Given the description of an element on the screen output the (x, y) to click on. 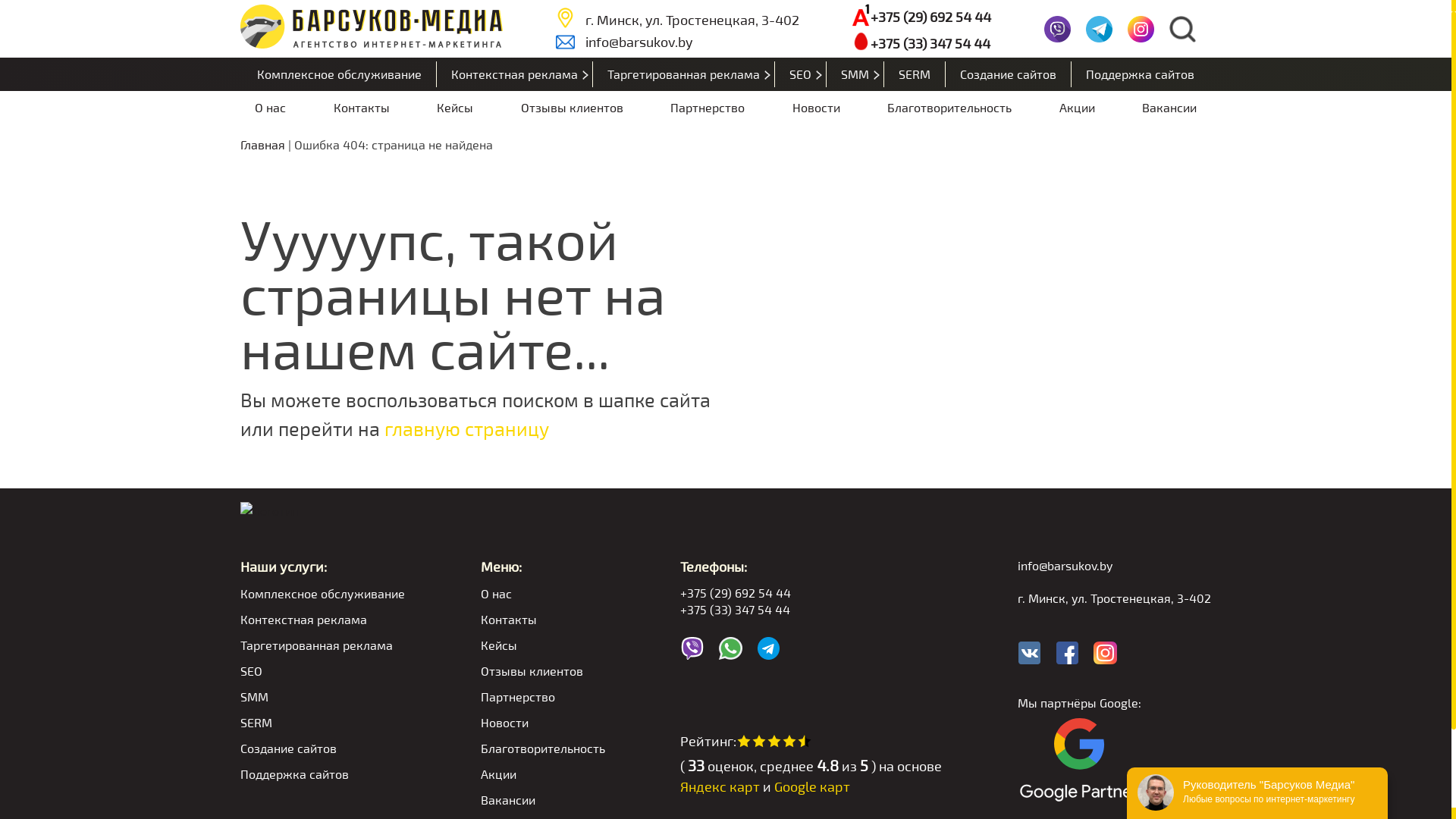
+375 (33) 347 54 44 Element type: text (921, 42)
SMM Element type: text (855, 74)
SEO Element type: text (800, 74)
+375 (33) 347 54 44 Element type: text (810, 609)
+375 (29) 692 54 44 Element type: text (810, 592)
SMM Element type: text (322, 696)
info@barsukov.by Element type: text (677, 41)
SERM Element type: text (322, 722)
SEO Element type: text (322, 670)
+375 (29) 692 54 44 Element type: text (921, 16)
SERM Element type: text (914, 74)
